Given the description of an element on the screen output the (x, y) to click on. 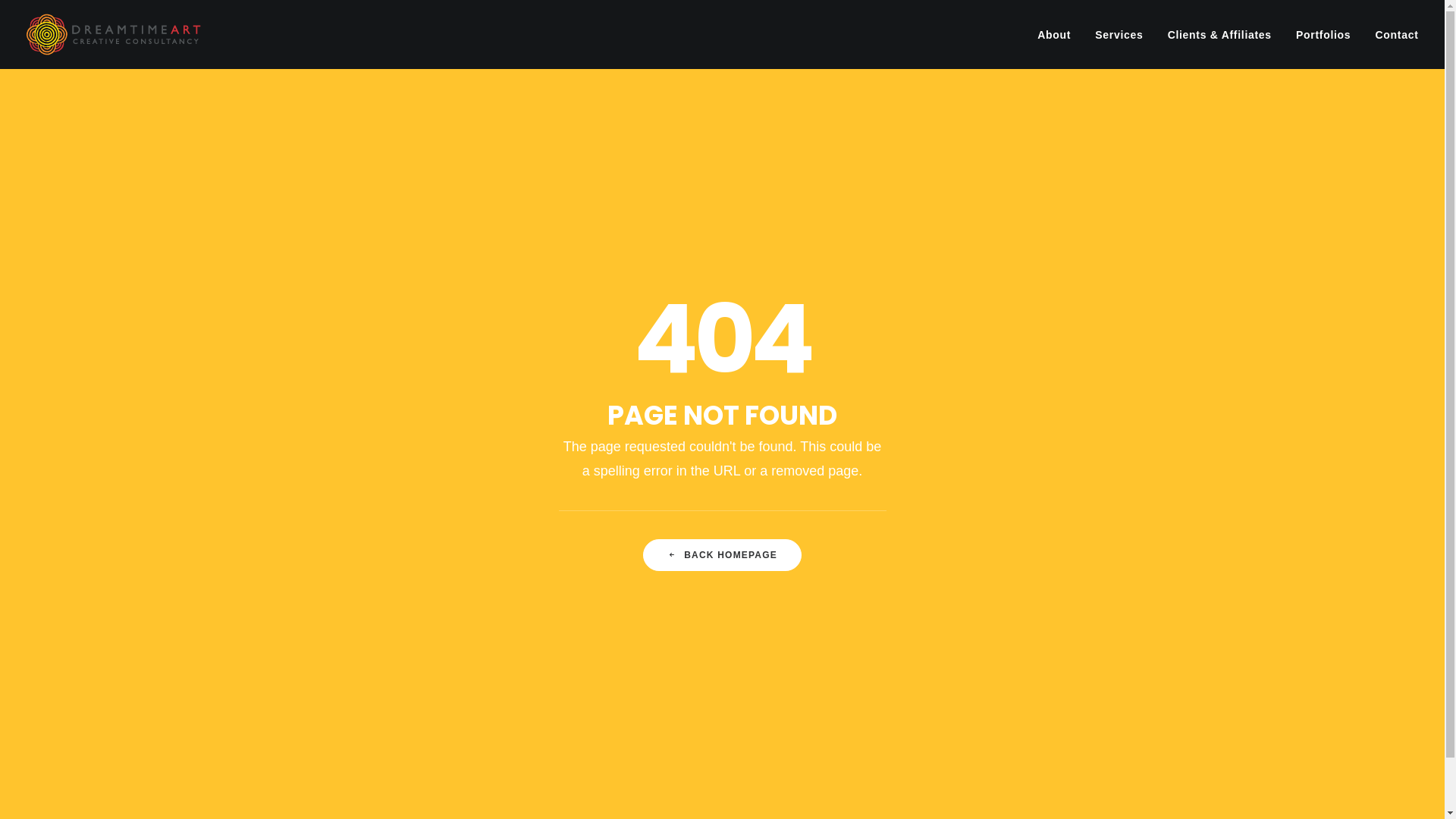
Portfolios Element type: text (1323, 34)
Services Element type: text (1118, 34)
About Element type: text (1059, 34)
Contact Element type: text (1391, 34)
BACK HOMEPAGE Element type: text (722, 555)
Clients & Affiliates Element type: text (1219, 34)
